Given the description of an element on the screen output the (x, y) to click on. 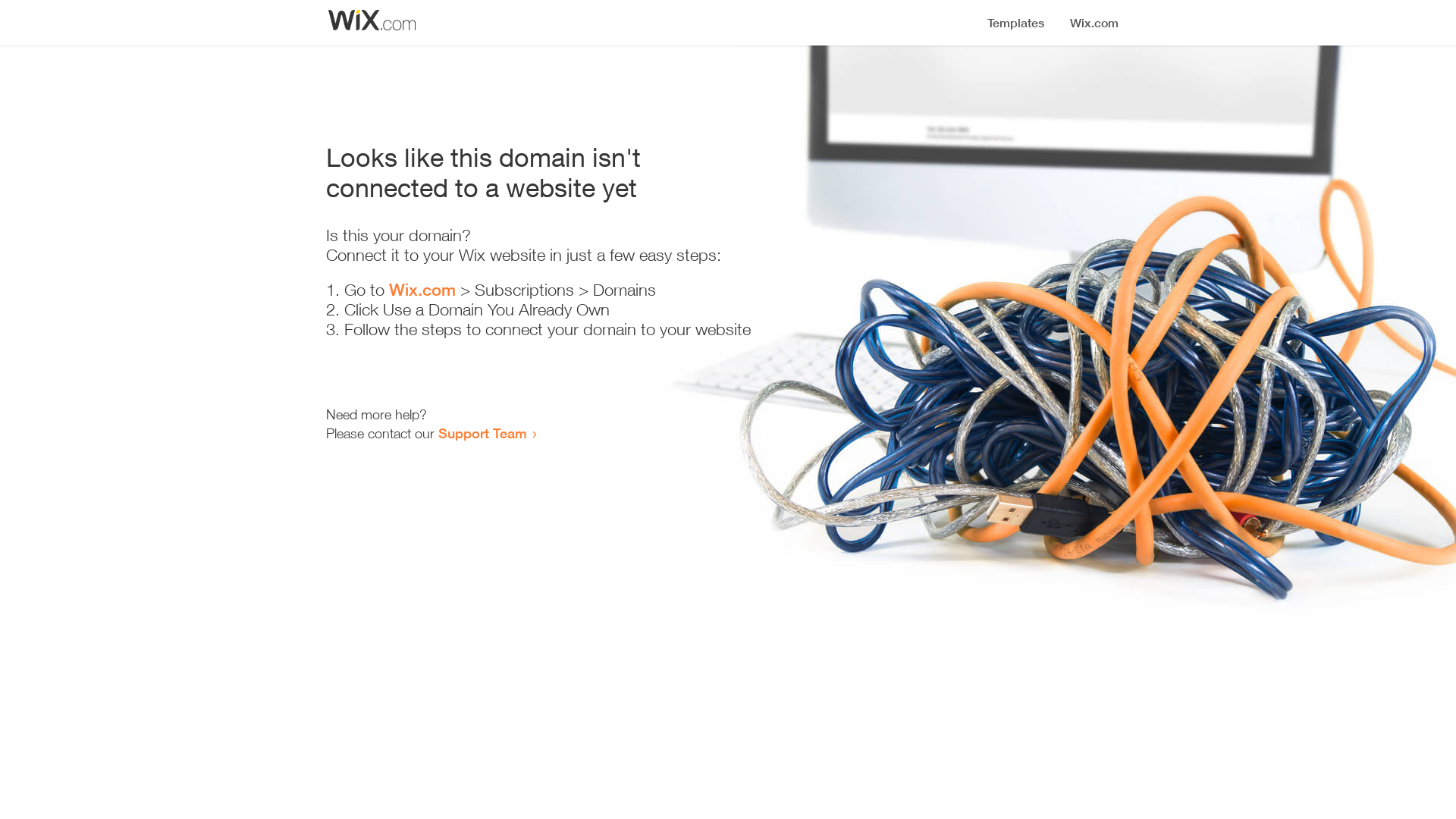
Support Team Element type: text (482, 432)
Wix.com Element type: text (422, 289)
